Given the description of an element on the screen output the (x, y) to click on. 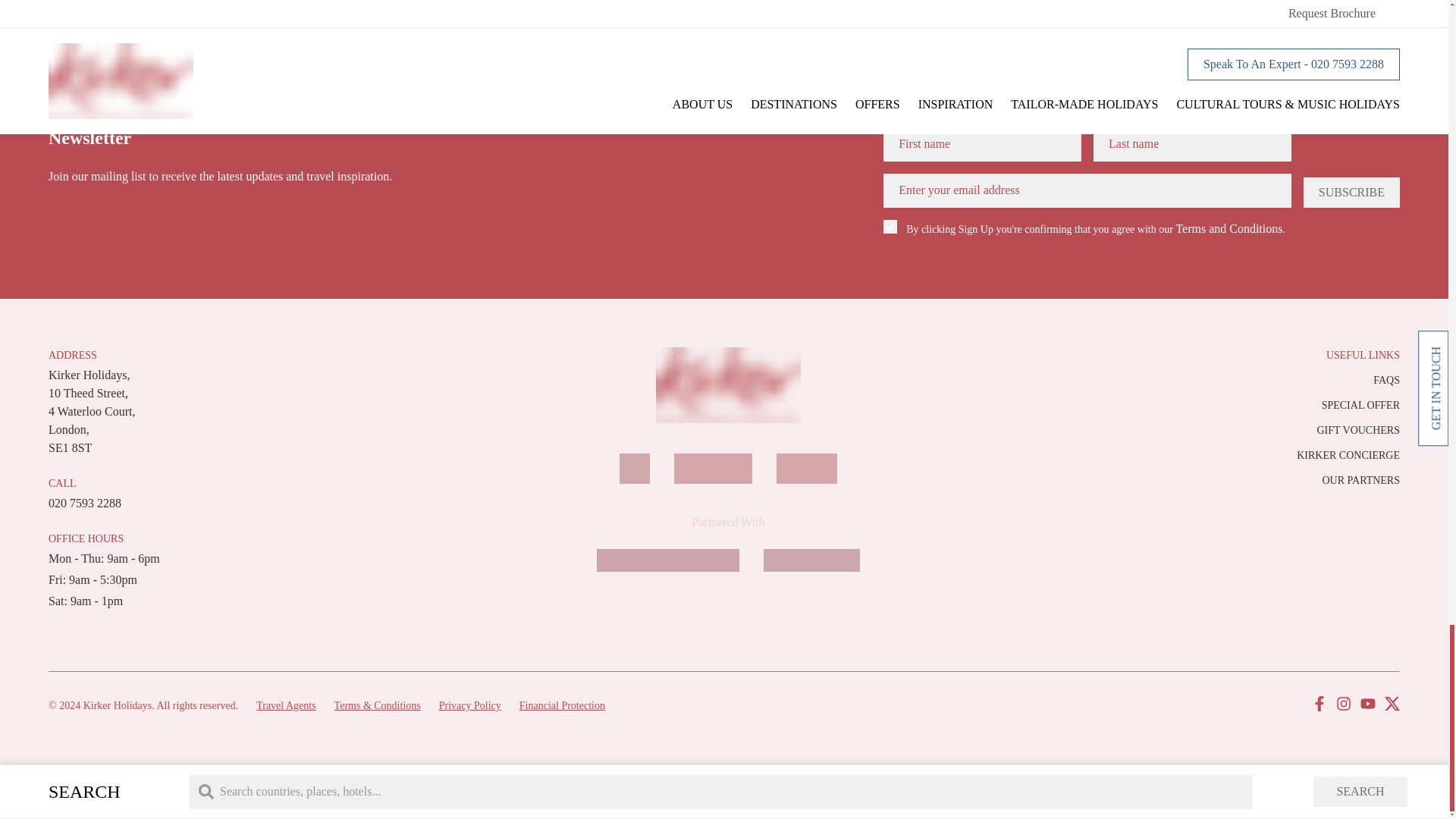
on (889, 226)
